Given the description of an element on the screen output the (x, y) to click on. 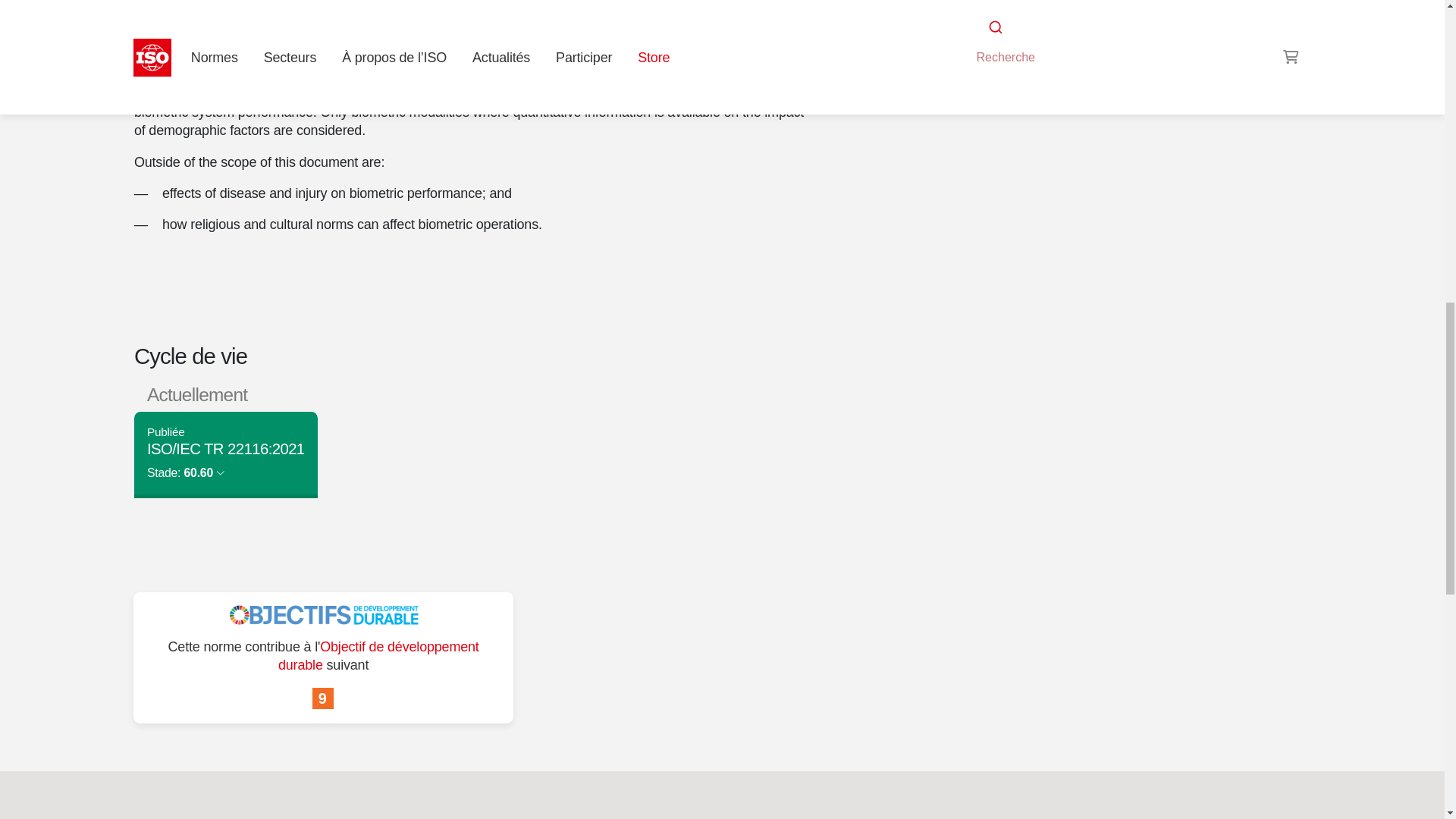
RSS (956, 51)
35.240.15 (997, 22)
Industrie, innovation et infrastructure (323, 698)
